Given the description of an element on the screen output the (x, y) to click on. 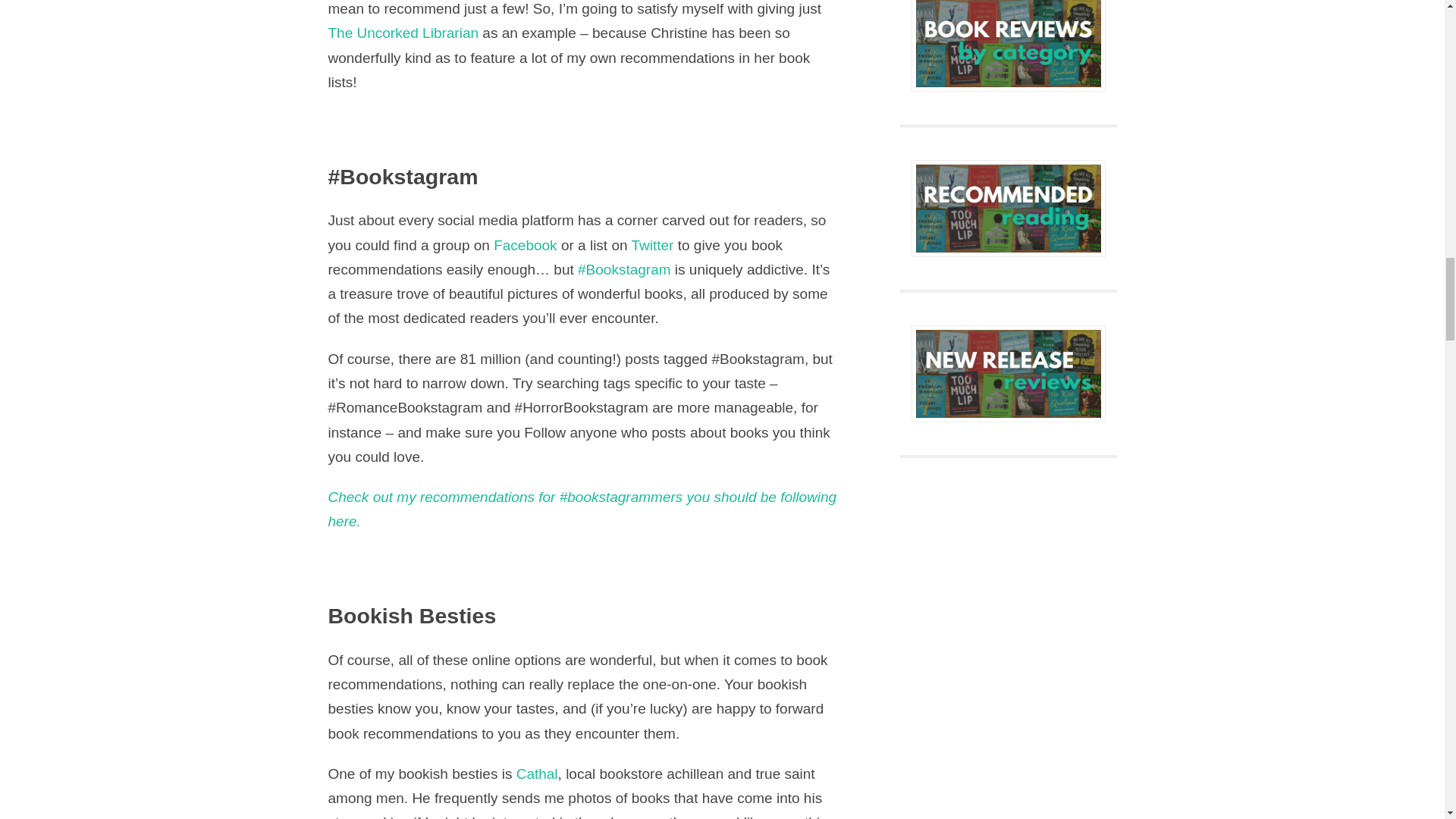
The Uncorked Librarian (403, 32)
Cathal (536, 773)
Facebook (524, 245)
Twitter (651, 245)
